Given the description of an element on the screen output the (x, y) to click on. 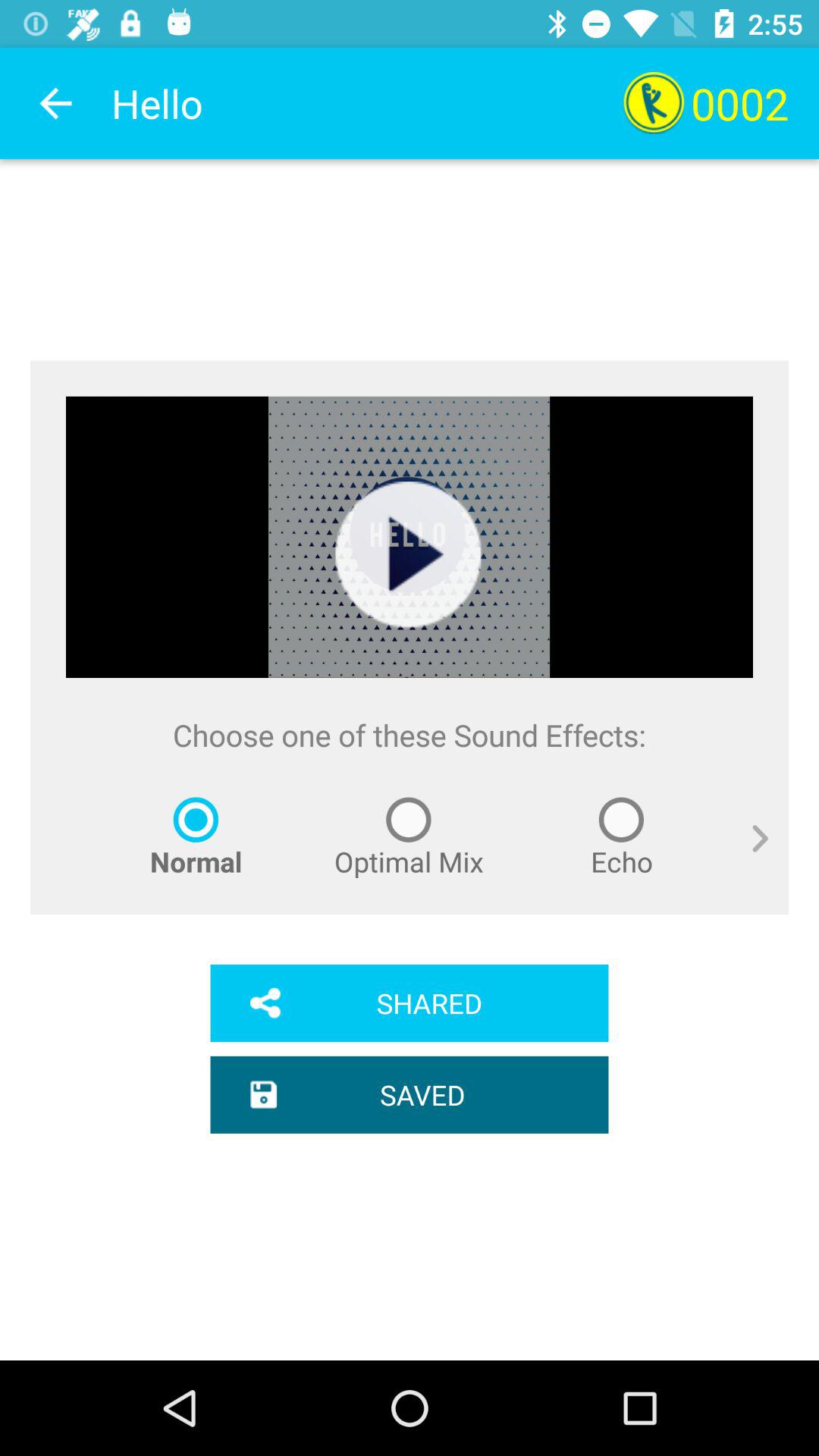
select the item to the right of the stage item (748, 855)
